Given the description of an element on the screen output the (x, y) to click on. 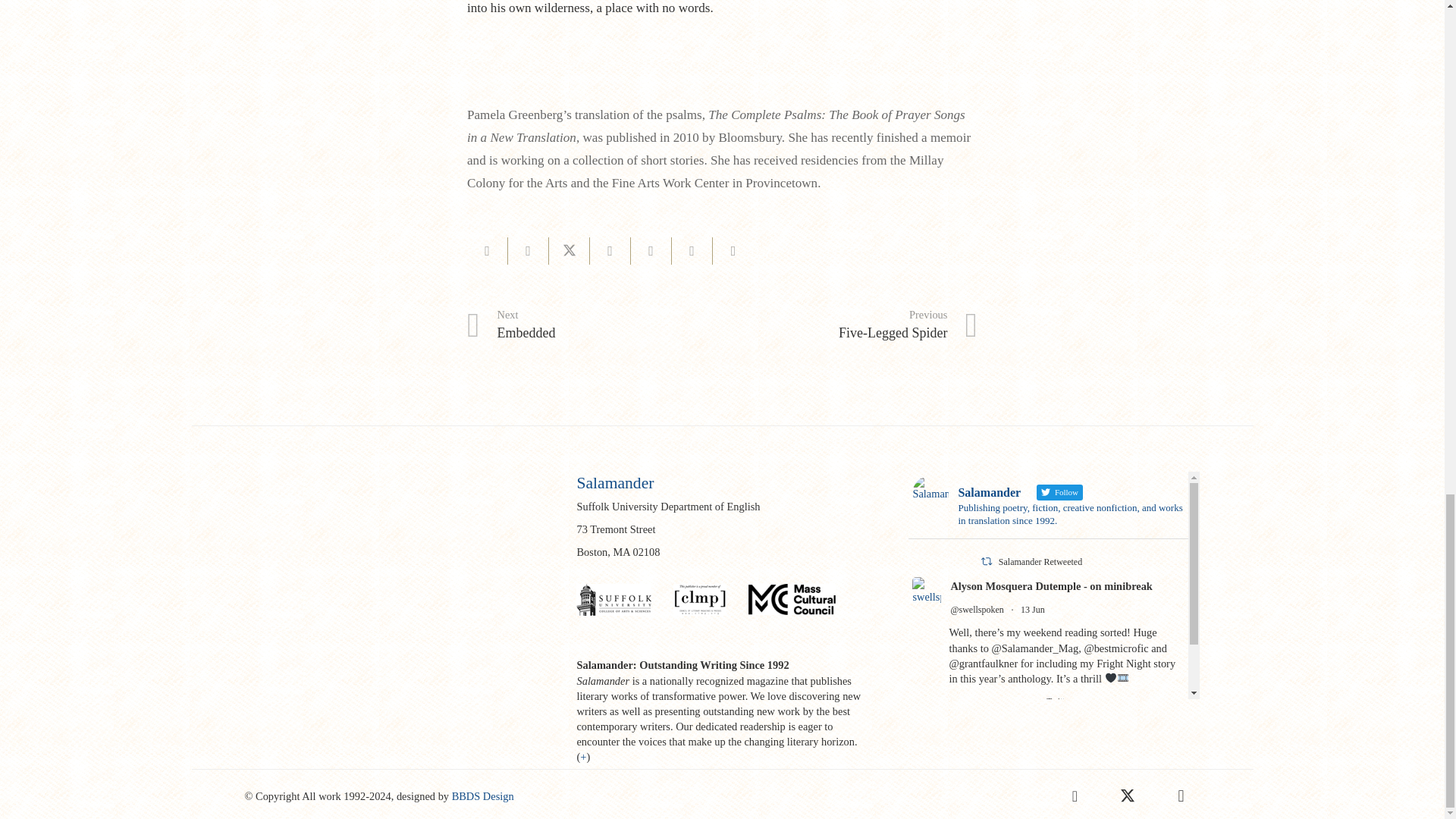
Share this (733, 250)
Retweet on Twitter (986, 561)
Share this (528, 250)
Share this (692, 250)
Twitter (1127, 795)
Facebook (1074, 795)
Tweet this (849, 325)
Email this (568, 250)
Embedded (487, 250)
Pin this (594, 325)
Five-Legged Spider (594, 325)
Instagram (650, 250)
